Given the description of an element on the screen output the (x, y) to click on. 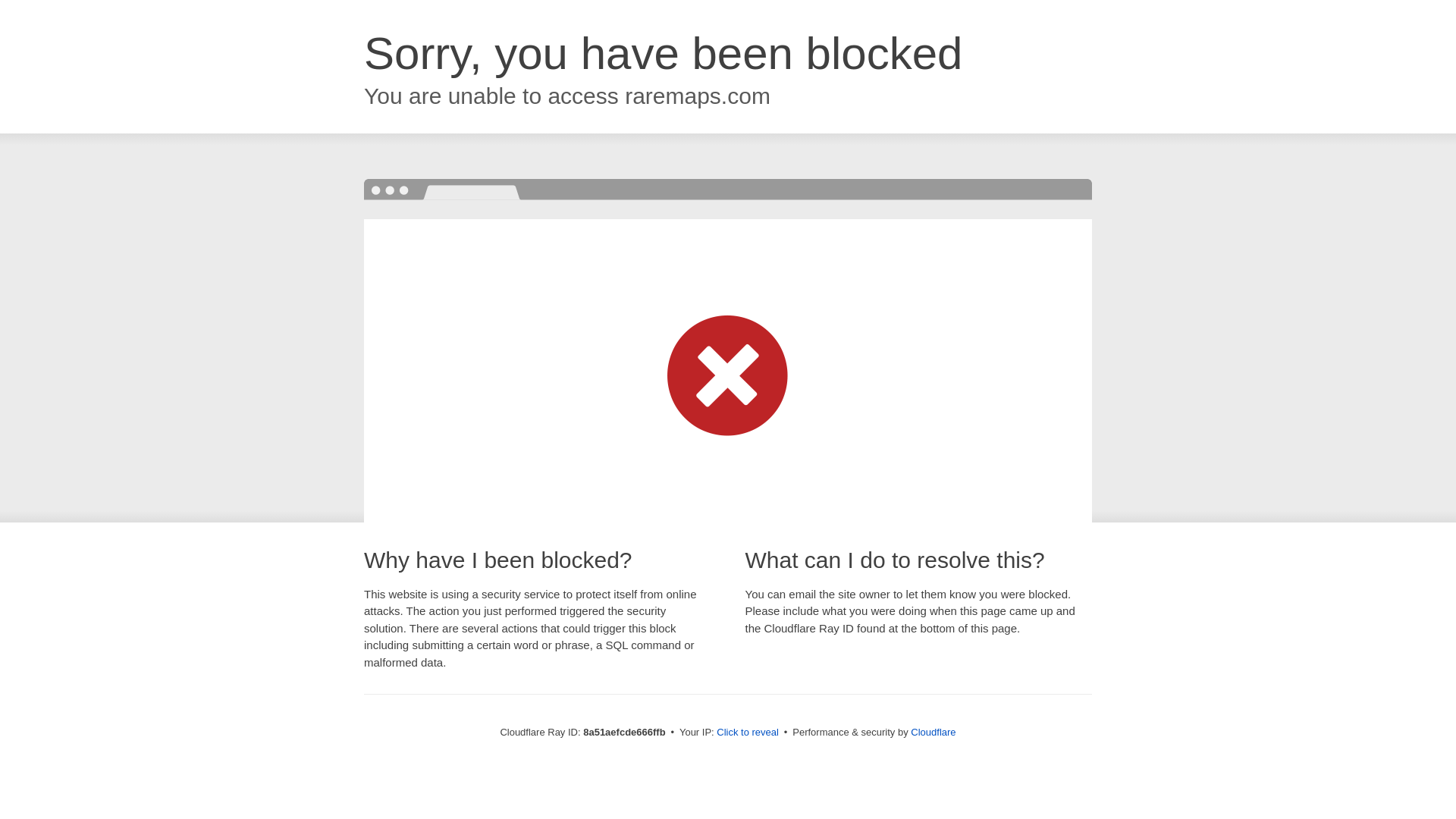
Click to reveal (747, 732)
Cloudflare (933, 731)
